Given the description of an element on the screen output the (x, y) to click on. 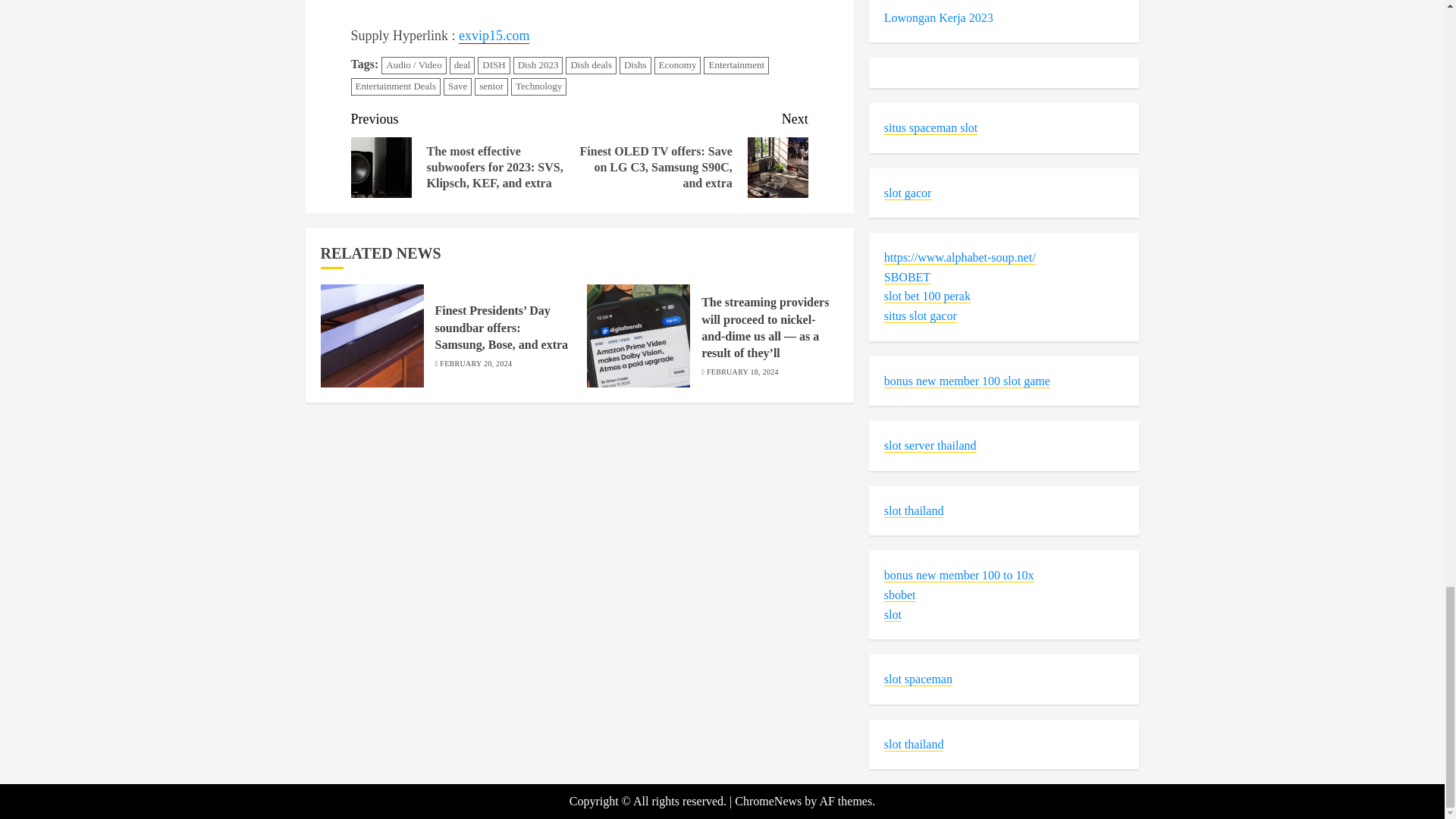
Economy (677, 65)
Dishs (635, 65)
Dish deals (590, 65)
FEBRUARY 18, 2024 (742, 371)
Entertainment Deals (395, 86)
exvip15.com (493, 35)
Technology (538, 86)
senior (491, 86)
Entertainment (735, 65)
FEBRUARY 20, 2024 (475, 363)
Dish 2023 (538, 65)
DISH (493, 65)
